Given the description of an element on the screen output the (x, y) to click on. 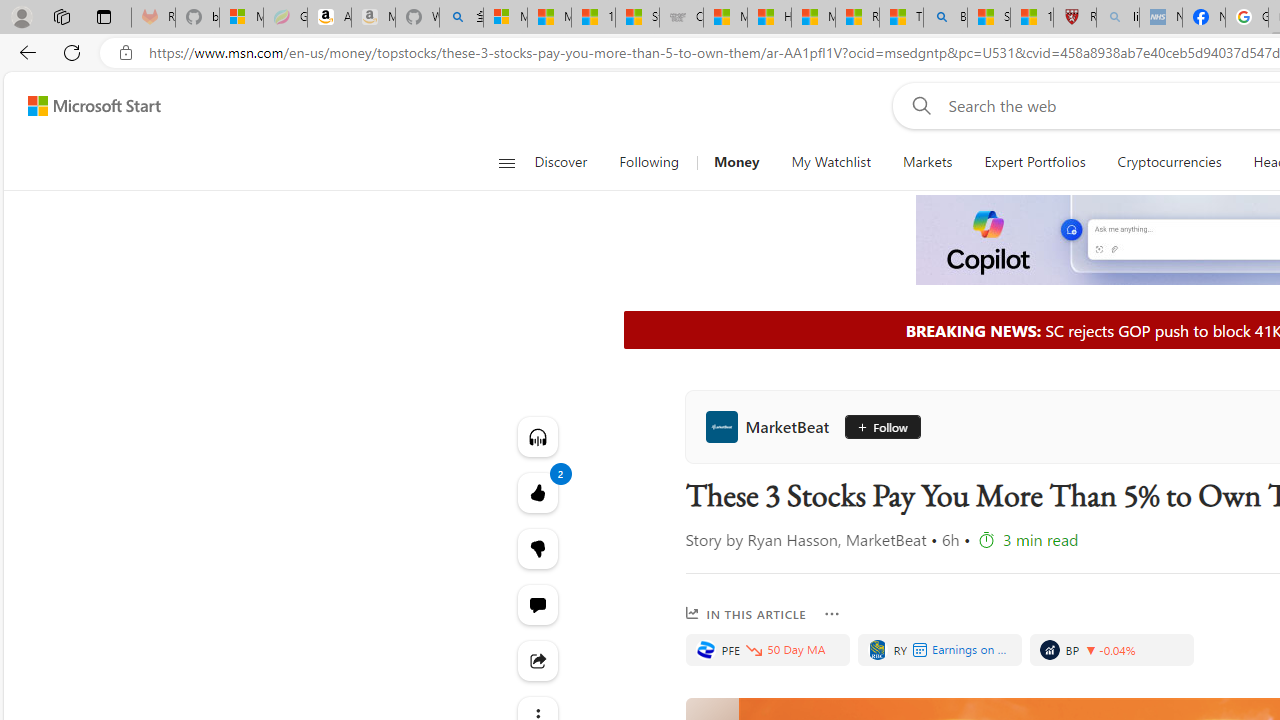
My Watchlist (830, 162)
Share this story (537, 660)
PFE, PFIZER INC.. Price is 28.79. Decreased by -0.83% (766, 650)
Expert Portfolios (1034, 162)
Bing (945, 17)
Robert H. Shmerling, MD - Harvard Health (1074, 17)
